Given the description of an element on the screen output the (x, y) to click on. 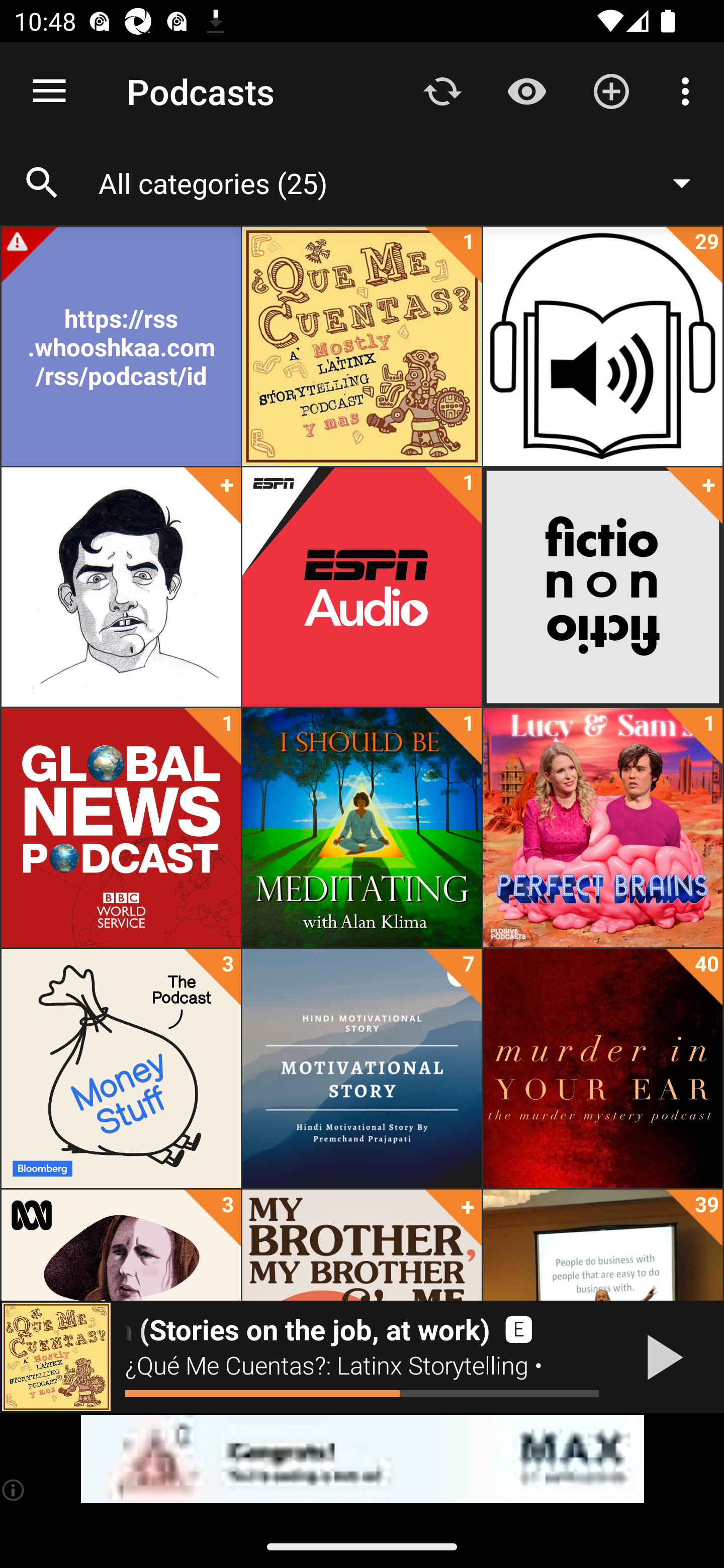
Open navigation sidebar (49, 91)
Update (442, 90)
Show / Hide played content (526, 90)
Add new Podcast (611, 90)
More options (688, 90)
Search (42, 183)
All categories (25) (404, 182)
https://rss.whooshkaa.com/rss/podcast/id/5884 (121, 346)
¿Qué Me Cuentas?: Latinx Storytelling 1 (361, 346)
Audiobooks 29 (602, 346)
Cooking Issues with Dave Arnold + (121, 587)
ESPN Audio 1 (361, 587)
fiction/non/fiction + (602, 587)
Global News Podcast 1 (121, 827)
Lucy & Sam's Perfect Brains 1 (602, 827)
Money Stuff: The Podcast 3 (121, 1068)
Murder In Your Ear-The Murder Mystery Podcast 40 (602, 1068)
Play / Pause (660, 1356)
app-monetization (362, 1459)
(i) (14, 1489)
